Given the description of an element on the screen output the (x, y) to click on. 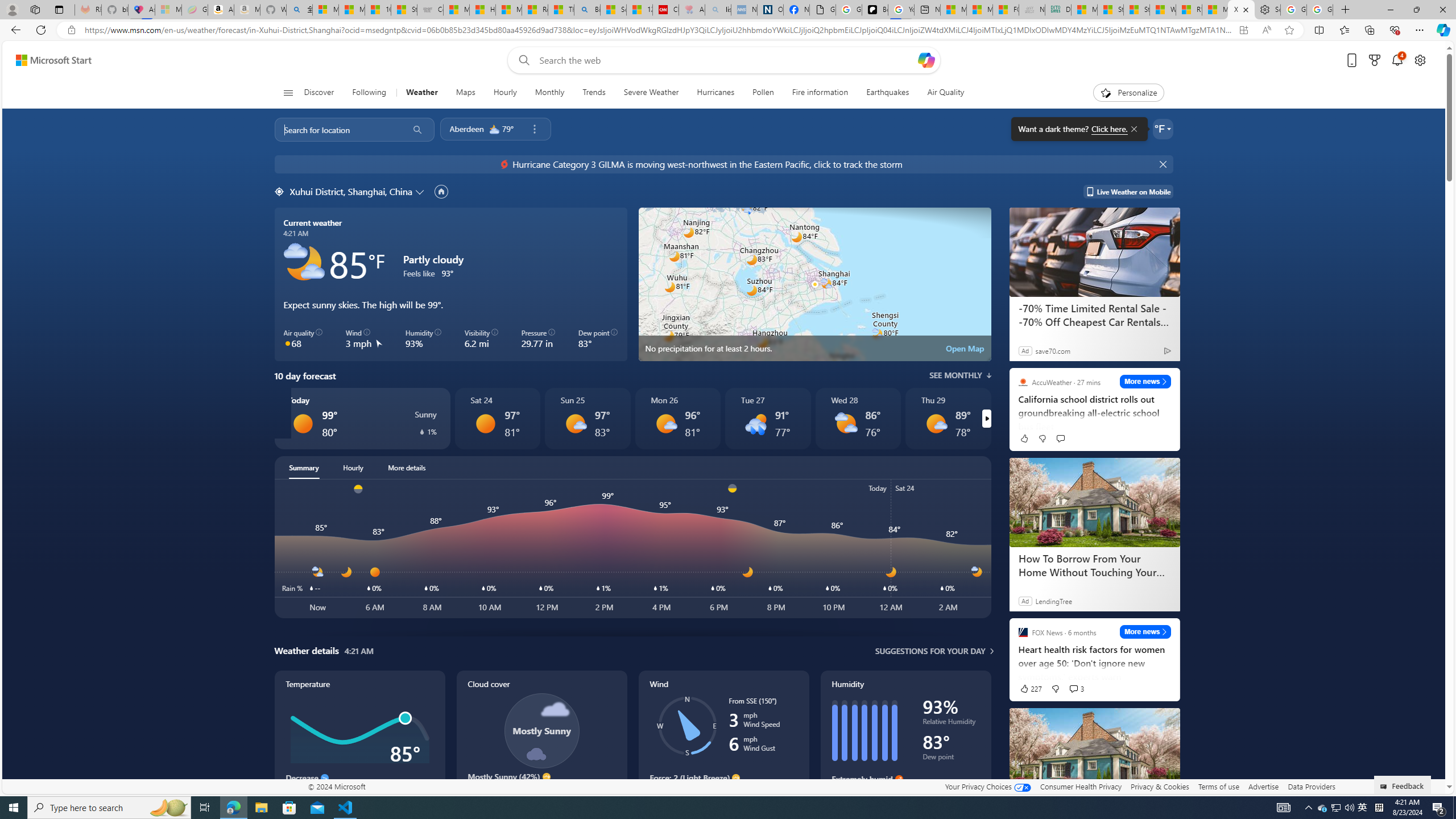
FOX News - MSN (1005, 9)
Temperature (678, 225)
Hourly (504, 92)
Pollen (763, 92)
Maps (465, 92)
Cloud cover (541, 741)
Summary (303, 467)
Visibility 6.2 mi (480, 338)
Severe Weather (651, 92)
